Given the description of an element on the screen output the (x, y) to click on. 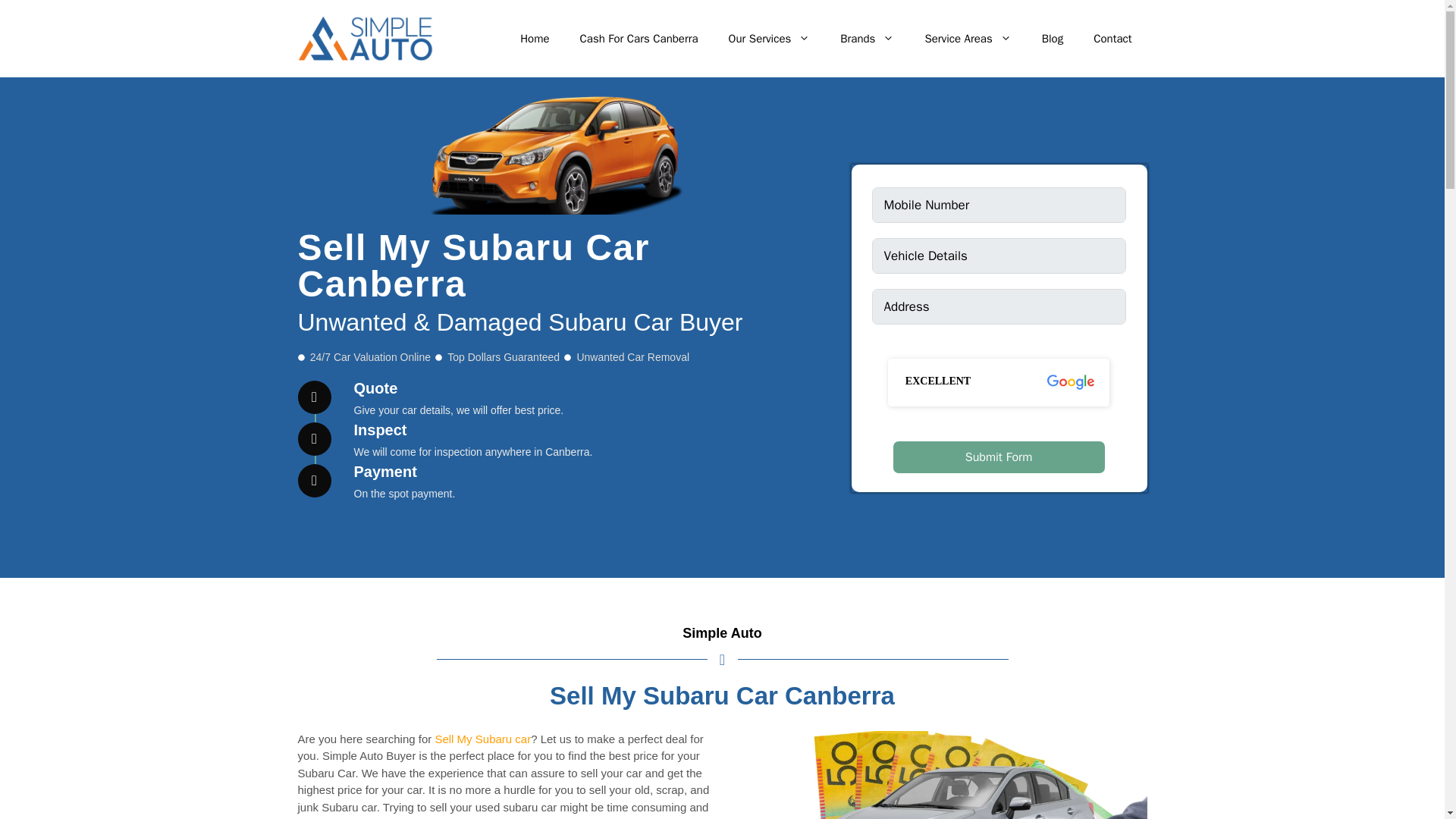
EXCELLENT (998, 382)
Brands (866, 38)
Cash For Cars Canberra (638, 38)
Submit Form (999, 457)
Home (534, 38)
Our Services (769, 38)
Service Areas (967, 38)
Blog (1052, 38)
Contact (1112, 38)
Sell My Subaru car (482, 738)
